Given the description of an element on the screen output the (x, y) to click on. 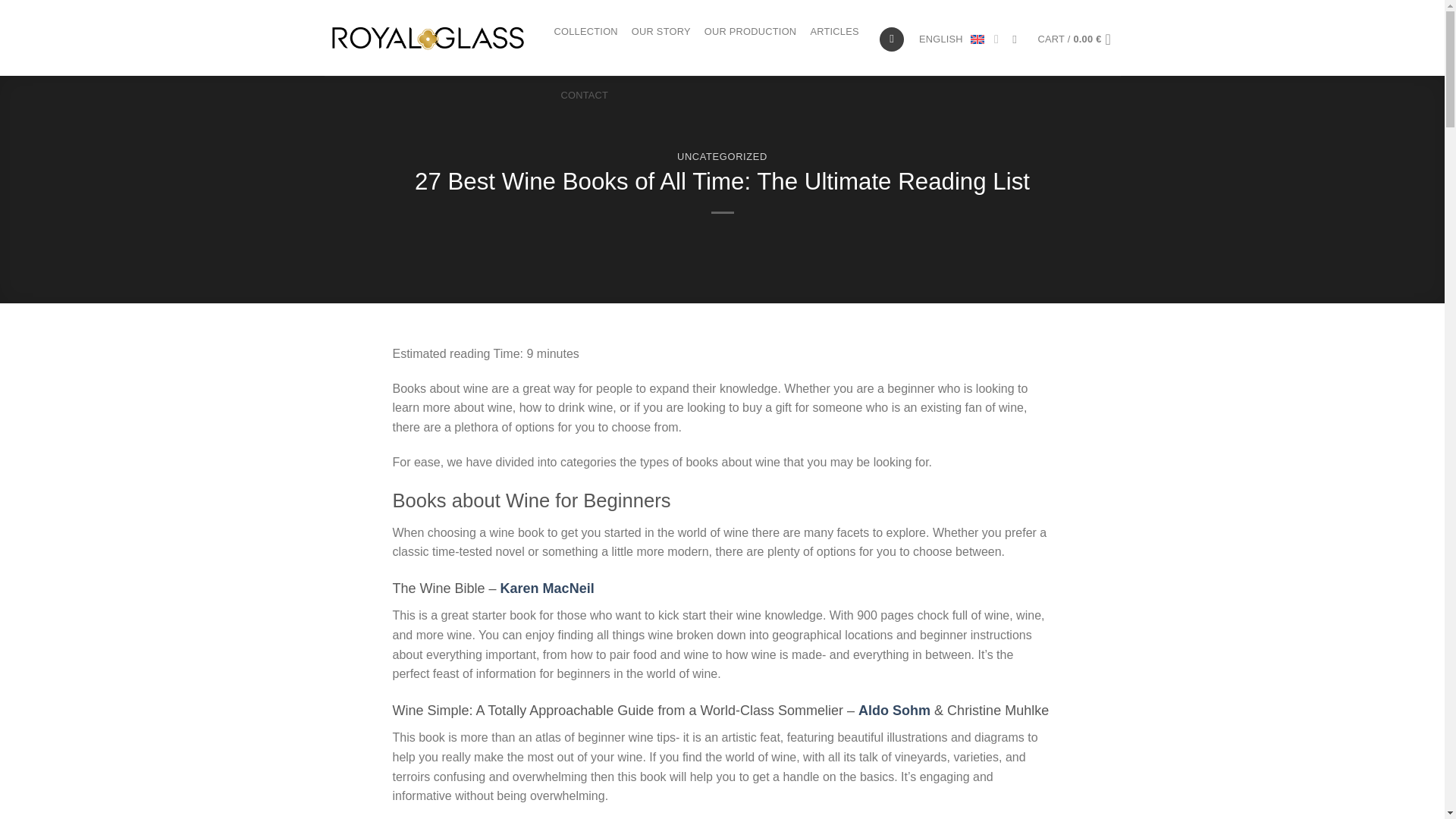
OUR PRODUCTION (750, 31)
Karen MacNeil (547, 588)
COLLECTION (585, 31)
Royal Glass - The perfect wine glass (427, 37)
OUR STORY (660, 31)
Login (891, 39)
Cart (1079, 39)
ENGLISH (958, 39)
Aldo Sohm (894, 710)
UNCATEGORIZED (722, 156)
